Given the description of an element on the screen output the (x, y) to click on. 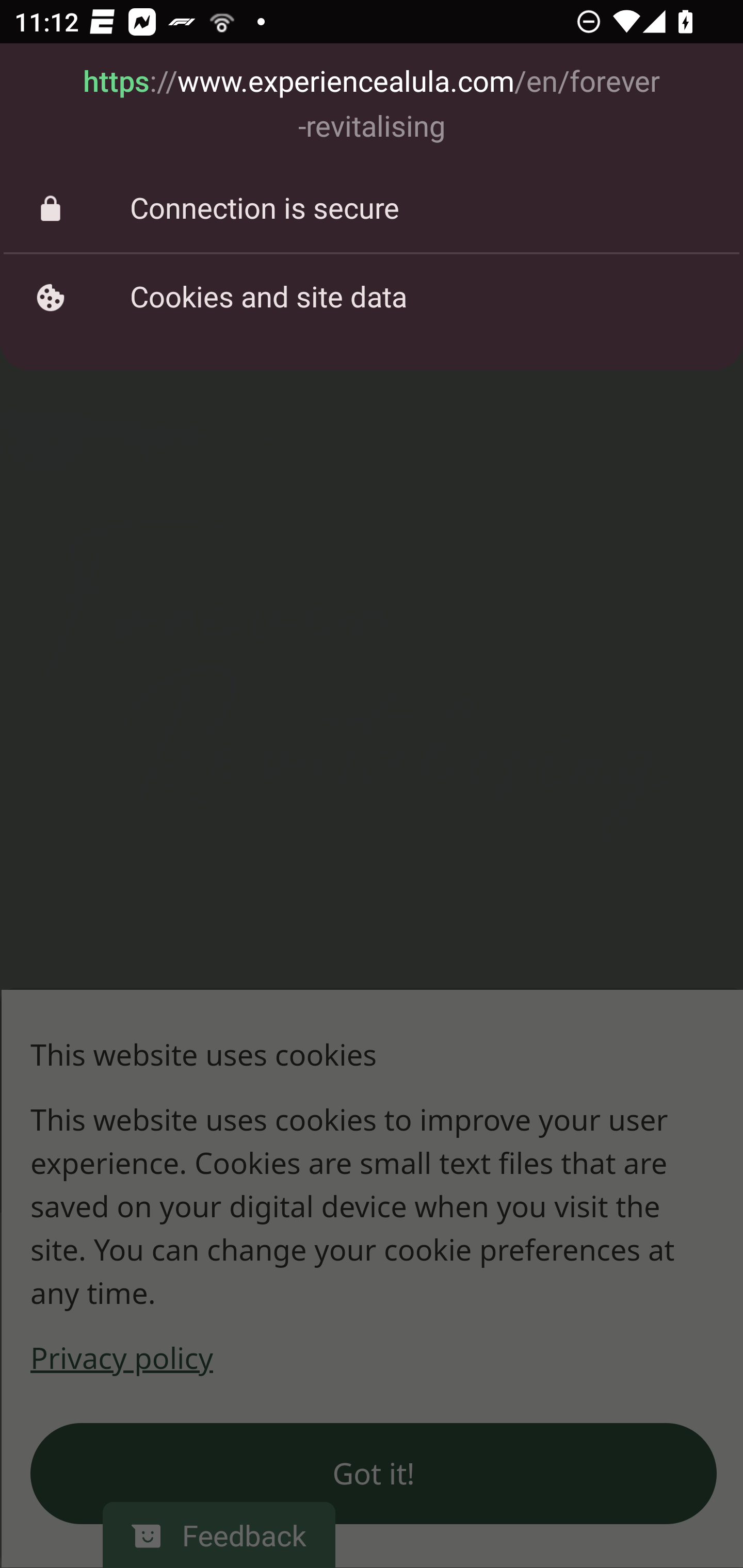
Connection is secure (371, 209)
Cookies and site data (371, 297)
